Given the description of an element on the screen output the (x, y) to click on. 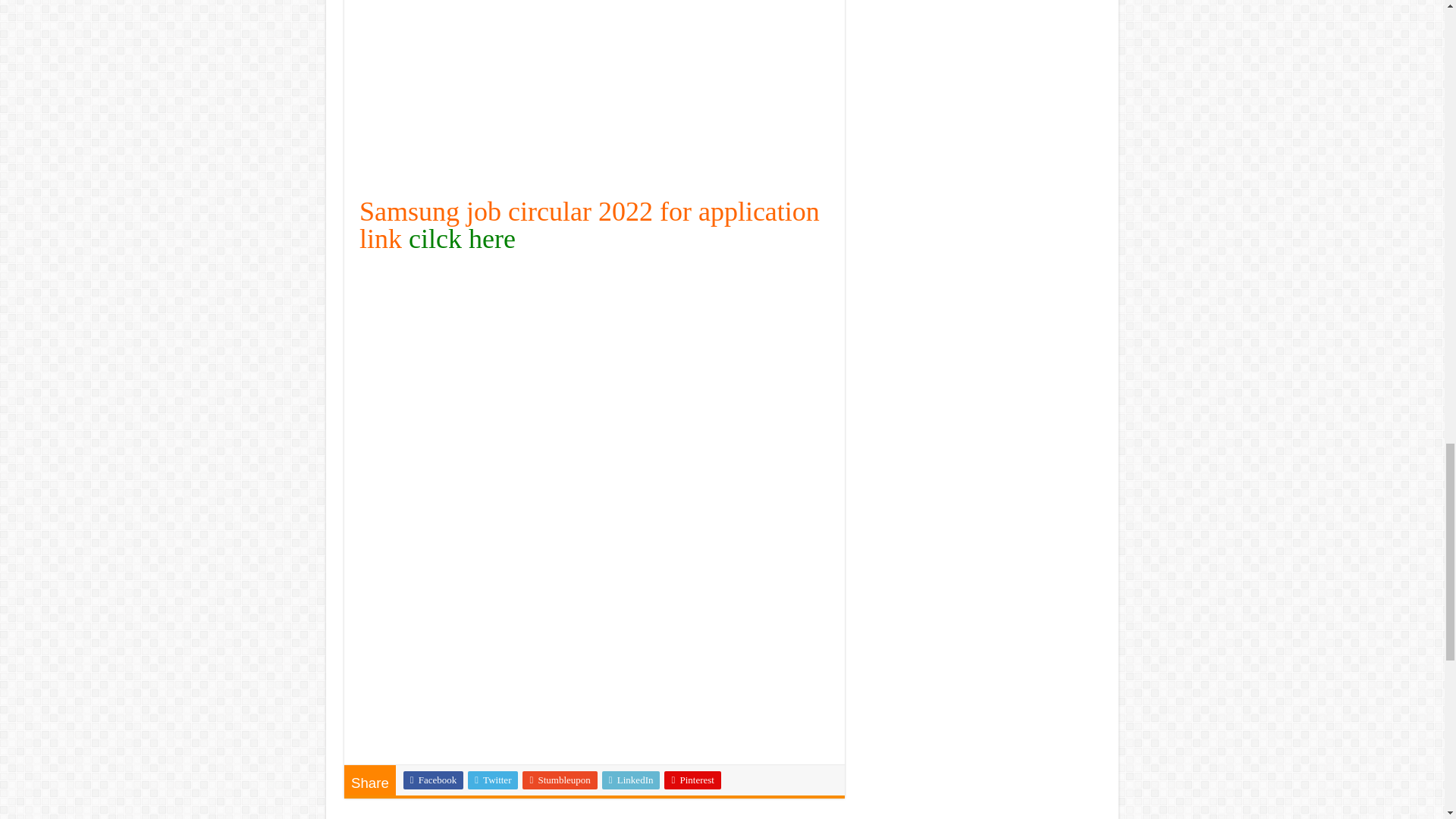
LinkedIn (631, 780)
Samsung job circular 2022 for application link cilck here (589, 224)
Twitter (492, 780)
Pinterest (691, 780)
Stumbleupon (559, 780)
Facebook (433, 780)
